Given the description of an element on the screen output the (x, y) to click on. 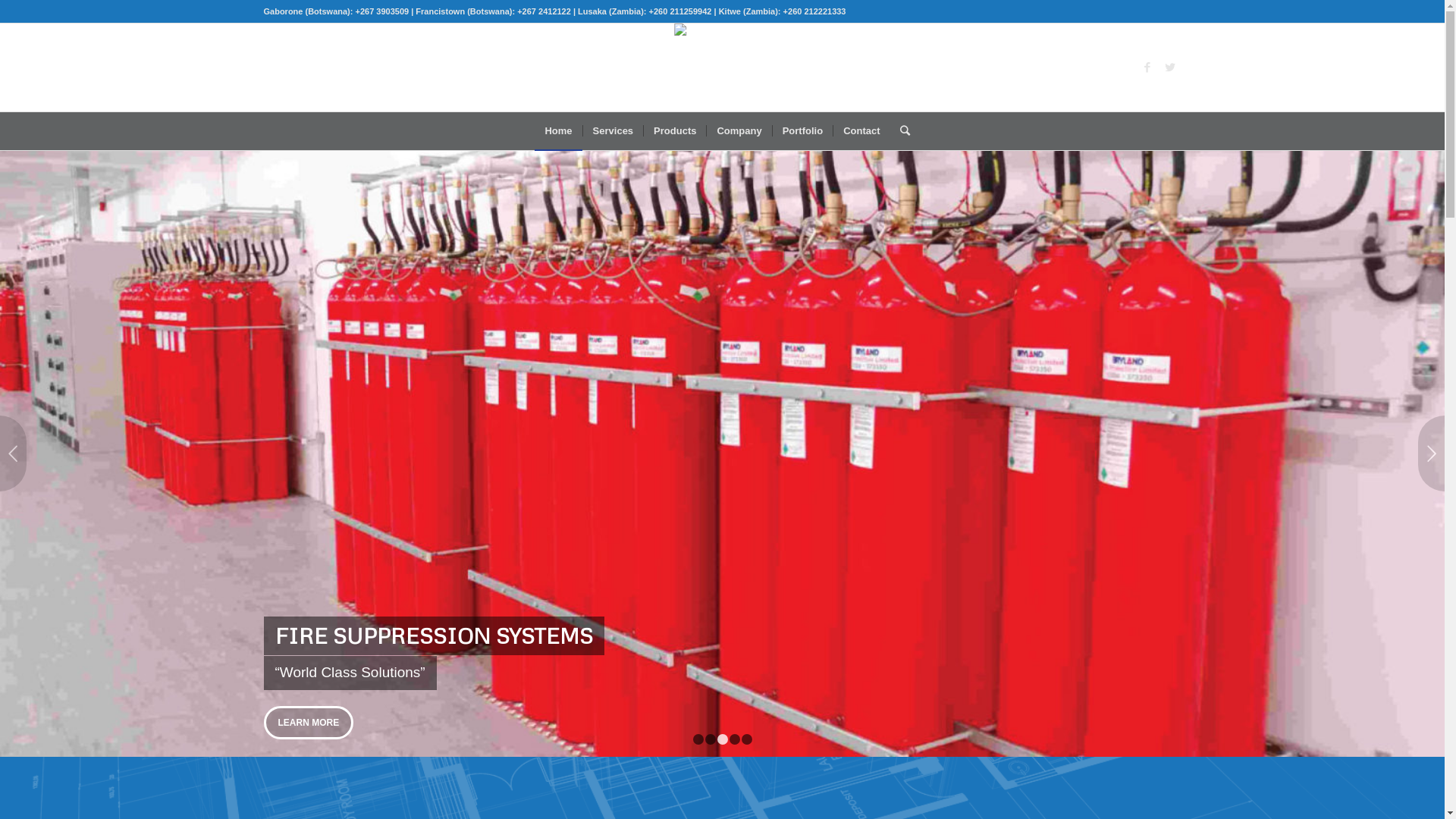
Company Element type: text (738, 131)
3 Element type: text (722, 739)
Products Element type: text (674, 131)
Fire-Suppression Element type: hover (722, 453)
Services Element type: text (612, 131)
2 Element type: text (710, 739)
1 Element type: text (698, 739)
Twitter Element type: hover (1169, 67)
Portfolio Element type: text (801, 131)
Next Element type: text (1431, 453)
Facebook Element type: hover (1146, 67)
4 Element type: text (734, 739)
Contact Element type: text (860, 131)
Home Element type: text (557, 131)
LEARN MORE Element type: text (308, 722)
Previous Element type: text (13, 453)
5 Element type: text (746, 739)
